Given the description of an element on the screen output the (x, y) to click on. 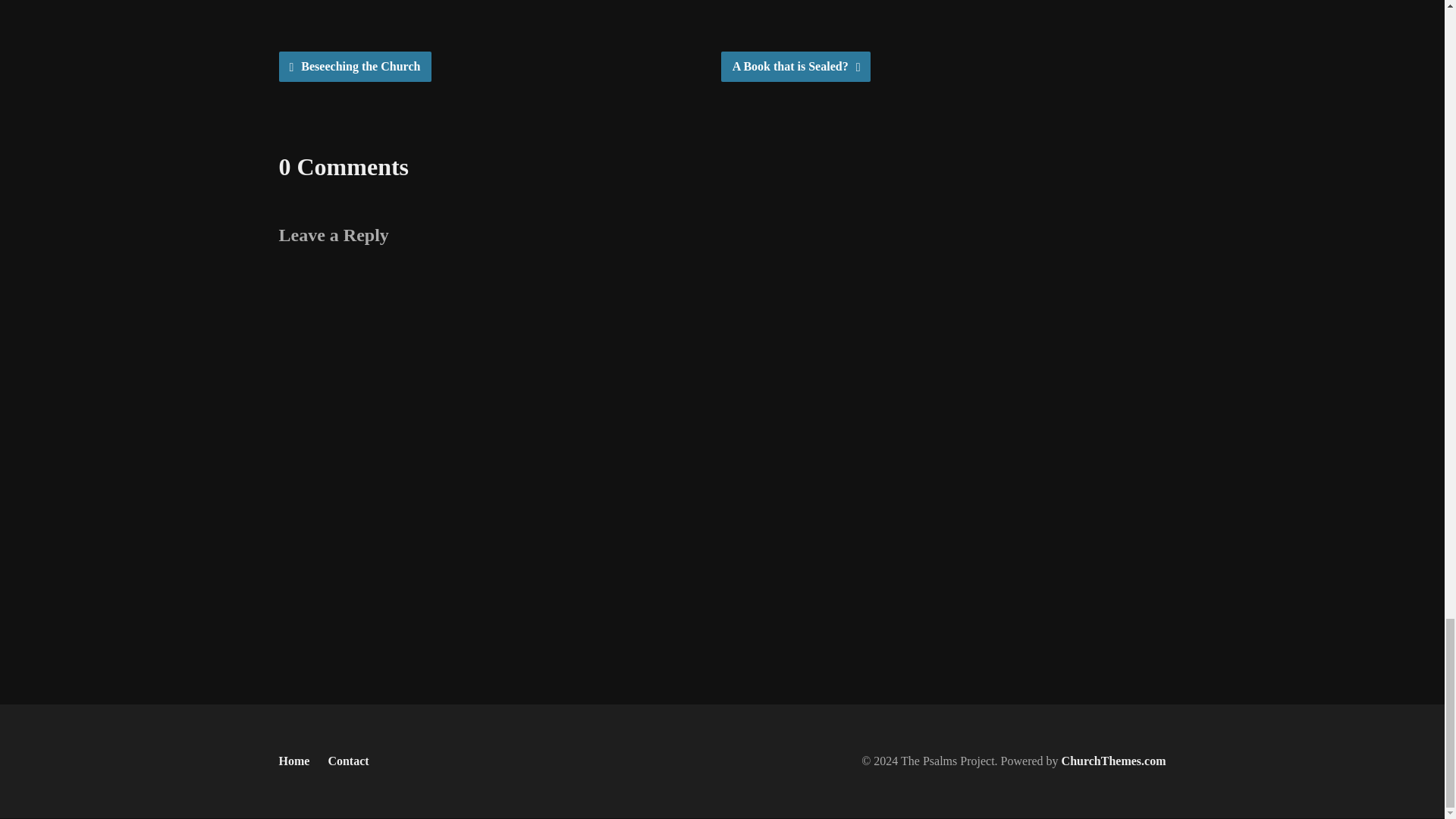
A Book that is Sealed? (795, 66)
Beseeching the Church (355, 66)
